Given the description of an element on the screen output the (x, y) to click on. 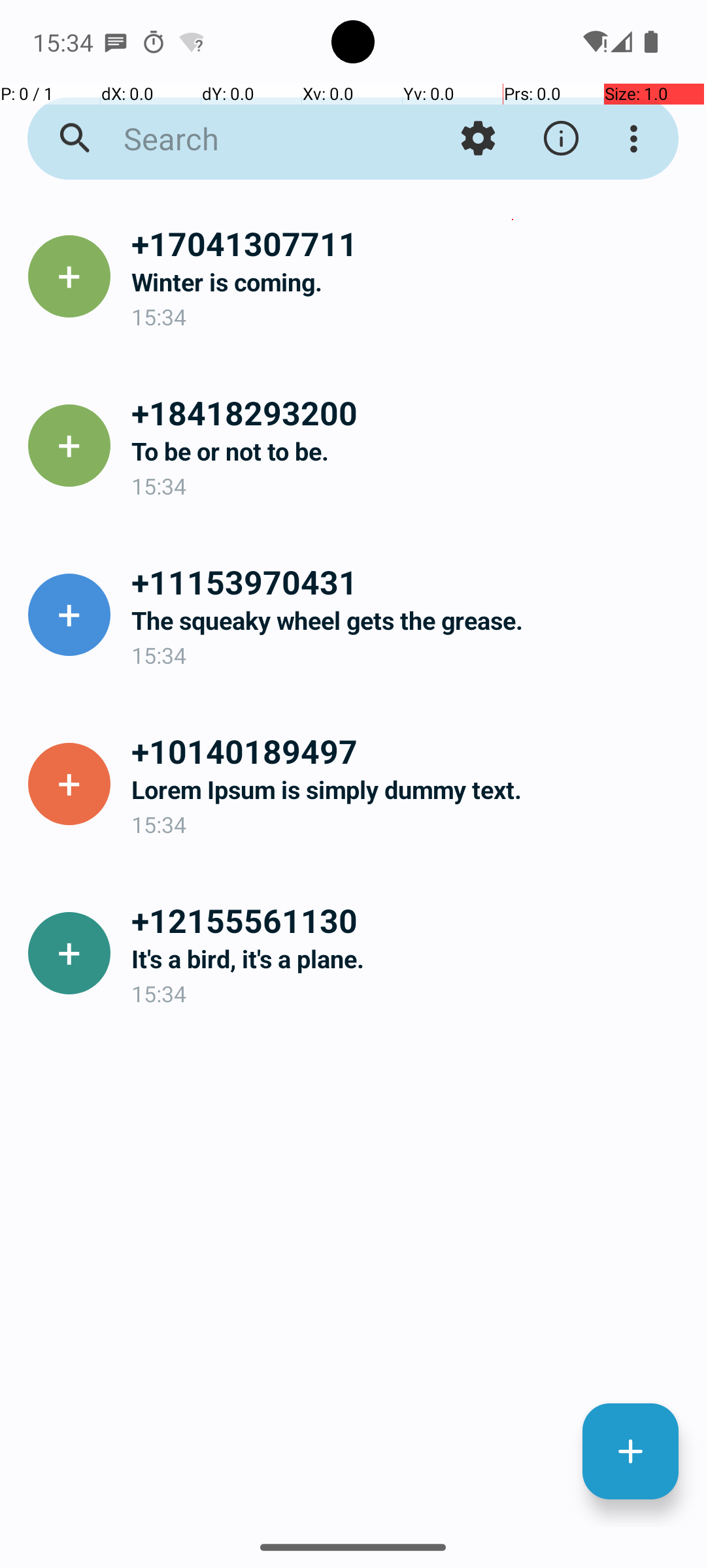
+17041307711 Element type: android.widget.TextView (408, 242)
Winter is coming. Element type: android.widget.TextView (408, 281)
+18418293200 Element type: android.widget.TextView (408, 412)
To be or not to be. Element type: android.widget.TextView (408, 450)
+11153970431 Element type: android.widget.TextView (408, 581)
The squeaky wheel gets the grease. Element type: android.widget.TextView (408, 620)
+10140189497 Element type: android.widget.TextView (408, 750)
Lorem Ipsum is simply dummy text. Element type: android.widget.TextView (408, 789)
+12155561130 Element type: android.widget.TextView (408, 919)
